Given the description of an element on the screen output the (x, y) to click on. 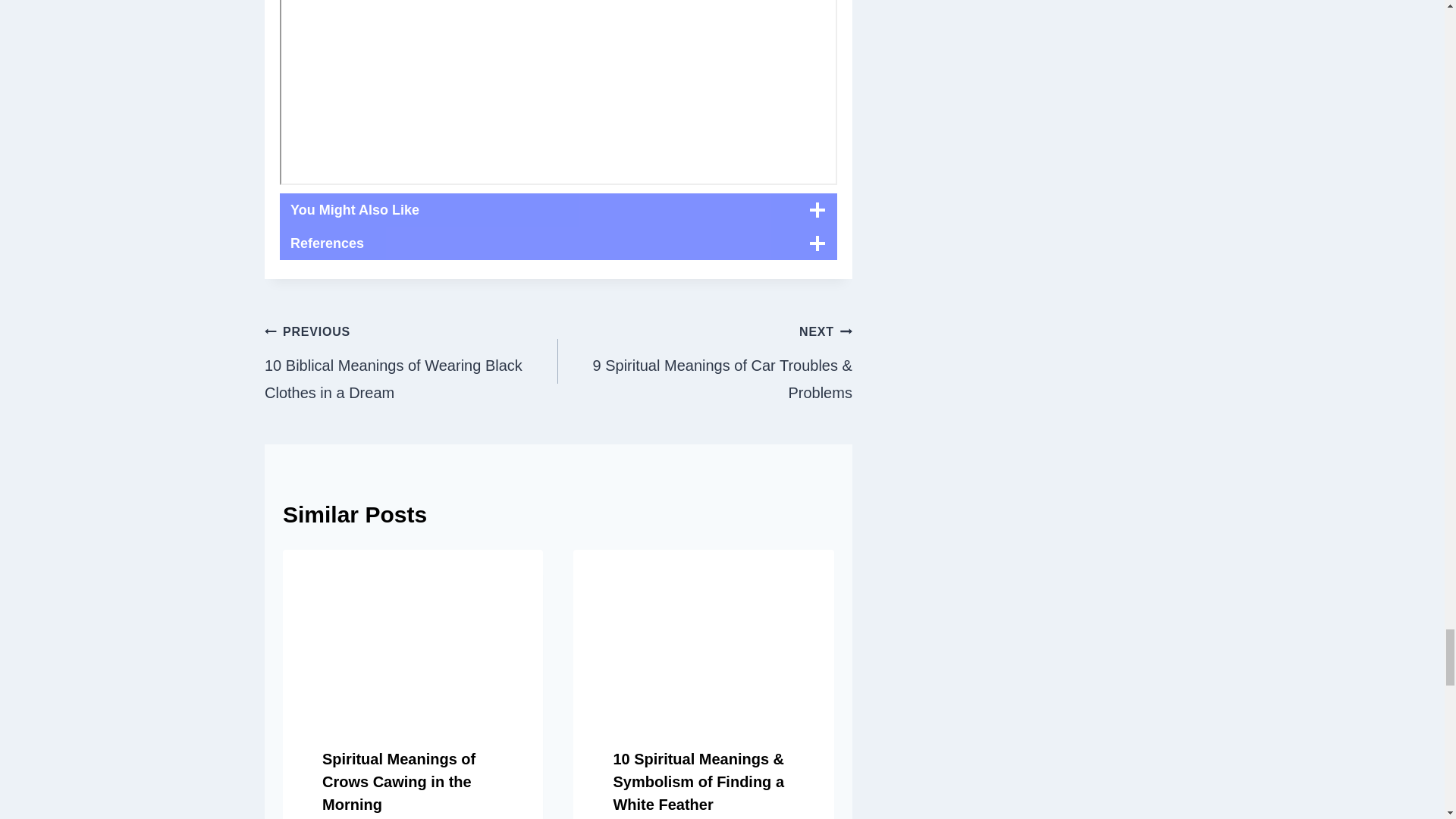
References (558, 243)
Spiritual Meanings of Crows Cawing in the Morning 3 (412, 636)
Spiritual Significance of Flies Around You (558, 92)
You Might Also Like (558, 209)
